Given the description of an element on the screen output the (x, y) to click on. 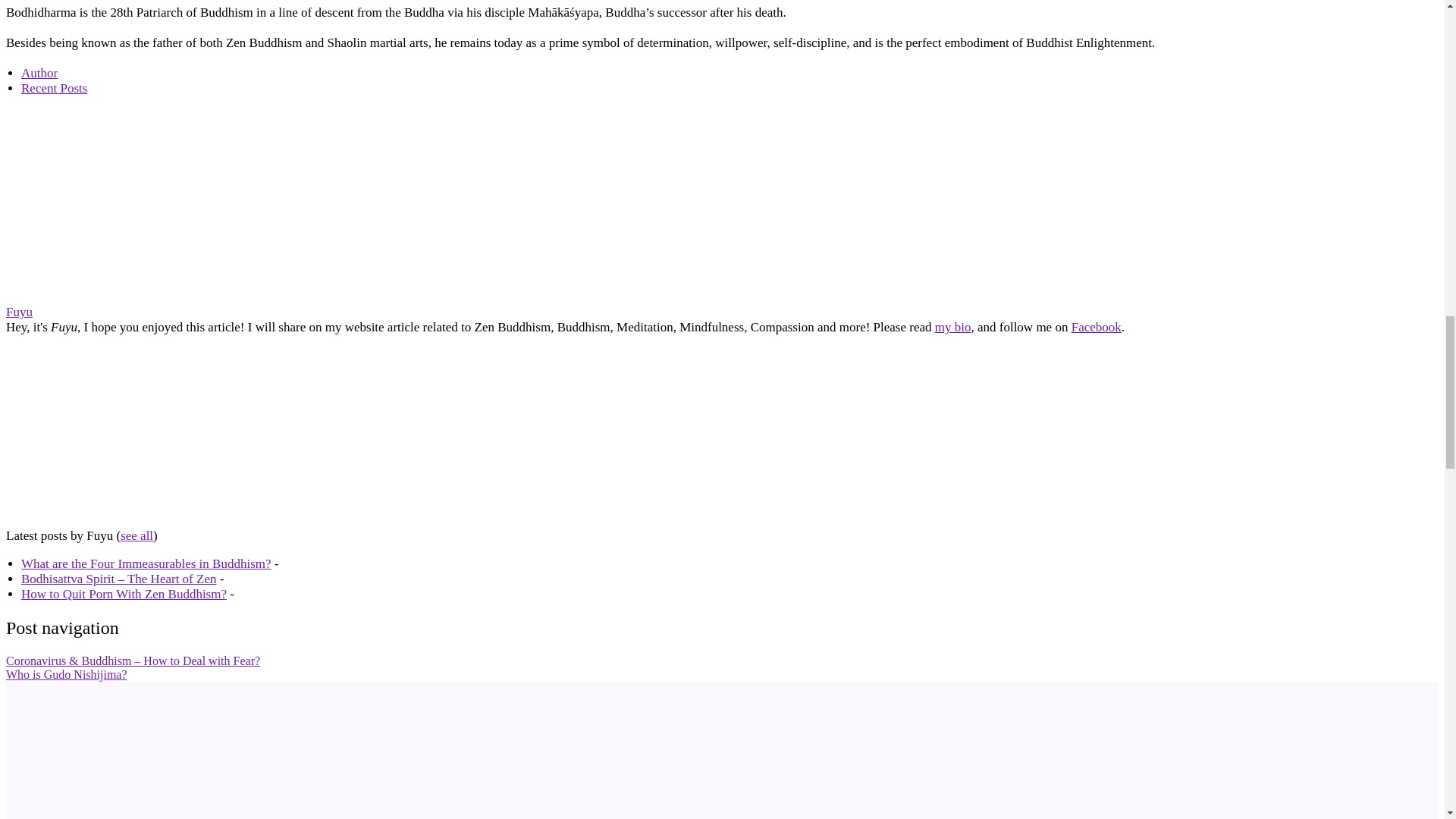
see all (136, 535)
Facebook (1096, 327)
Recent Posts (54, 88)
Fuyu (18, 311)
How to Quit Porn With Zen Buddhism? (124, 594)
Who is Gudo Nishijima? (66, 674)
What are the Four Immeasurables in Buddhism? (145, 563)
Fuyu (100, 296)
Fuyu (100, 520)
my bio (952, 327)
Author (39, 73)
